Given the description of an element on the screen output the (x, y) to click on. 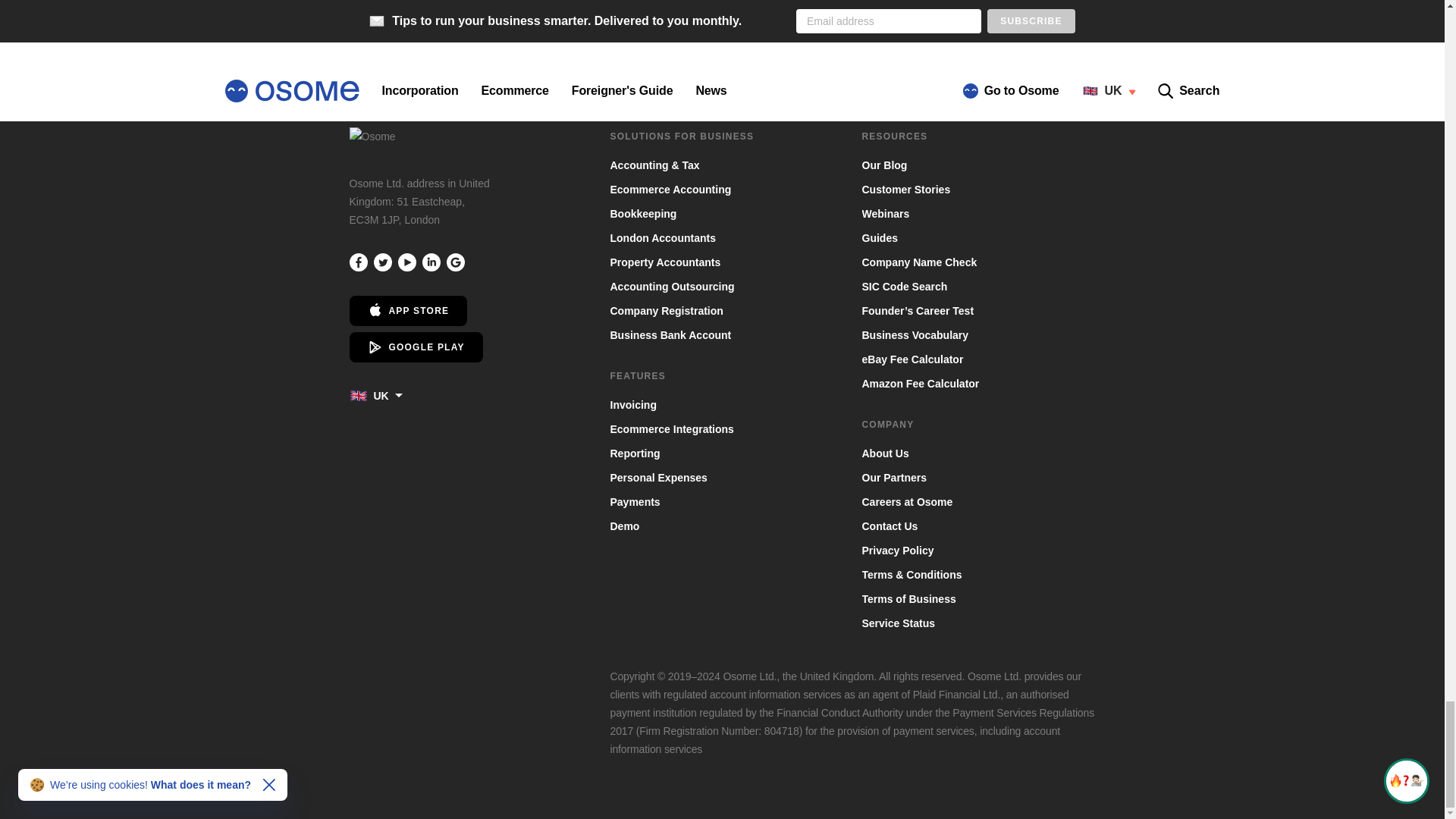
Osome Youtube (405, 262)
Osome LinkedIn (430, 262)
Osome Facebook (357, 262)
Osome Twitter (381, 262)
Review us (454, 262)
